Given the description of an element on the screen output the (x, y) to click on. 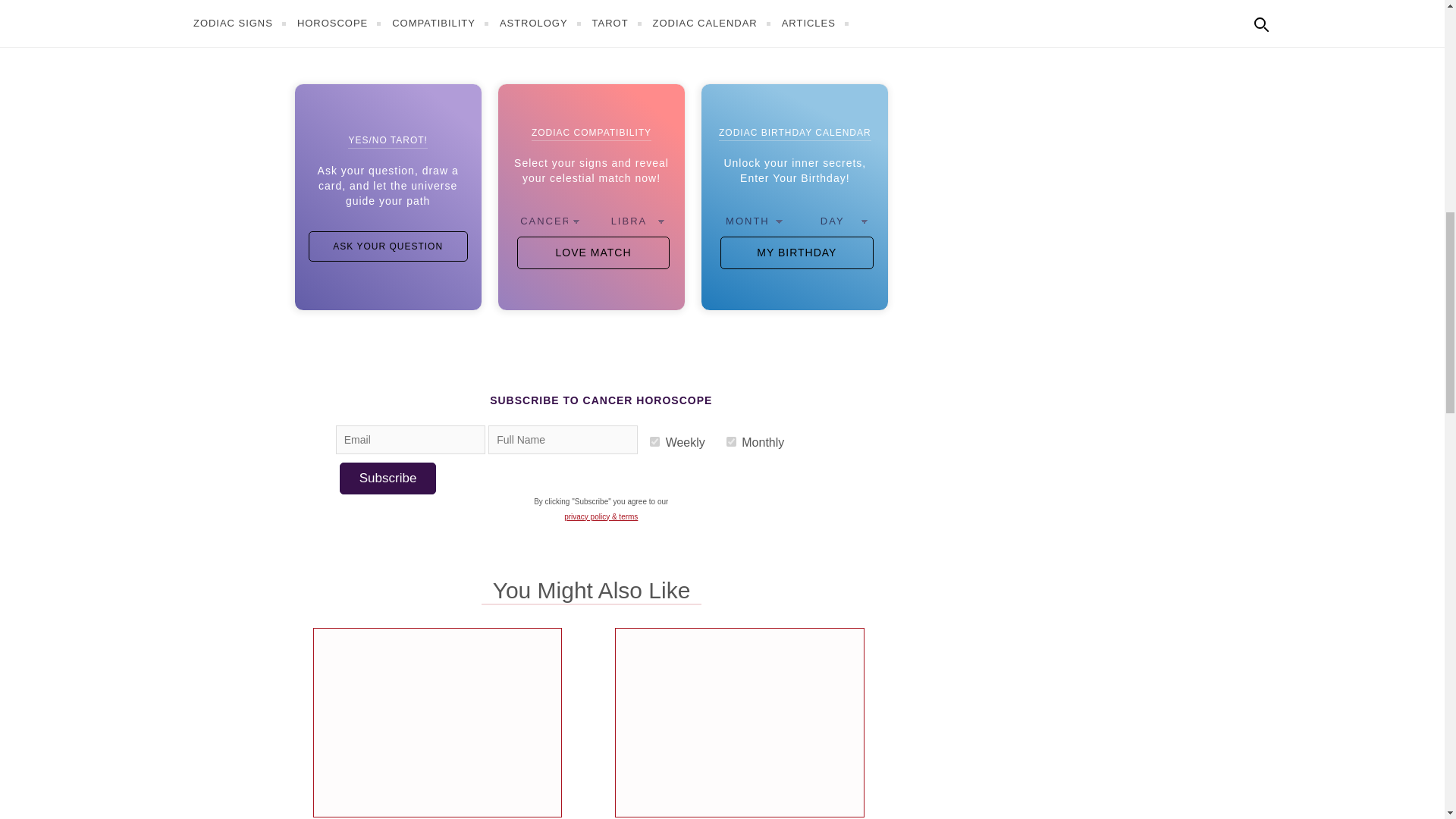
monthly (731, 441)
weekly (654, 441)
